Given the description of an element on the screen output the (x, y) to click on. 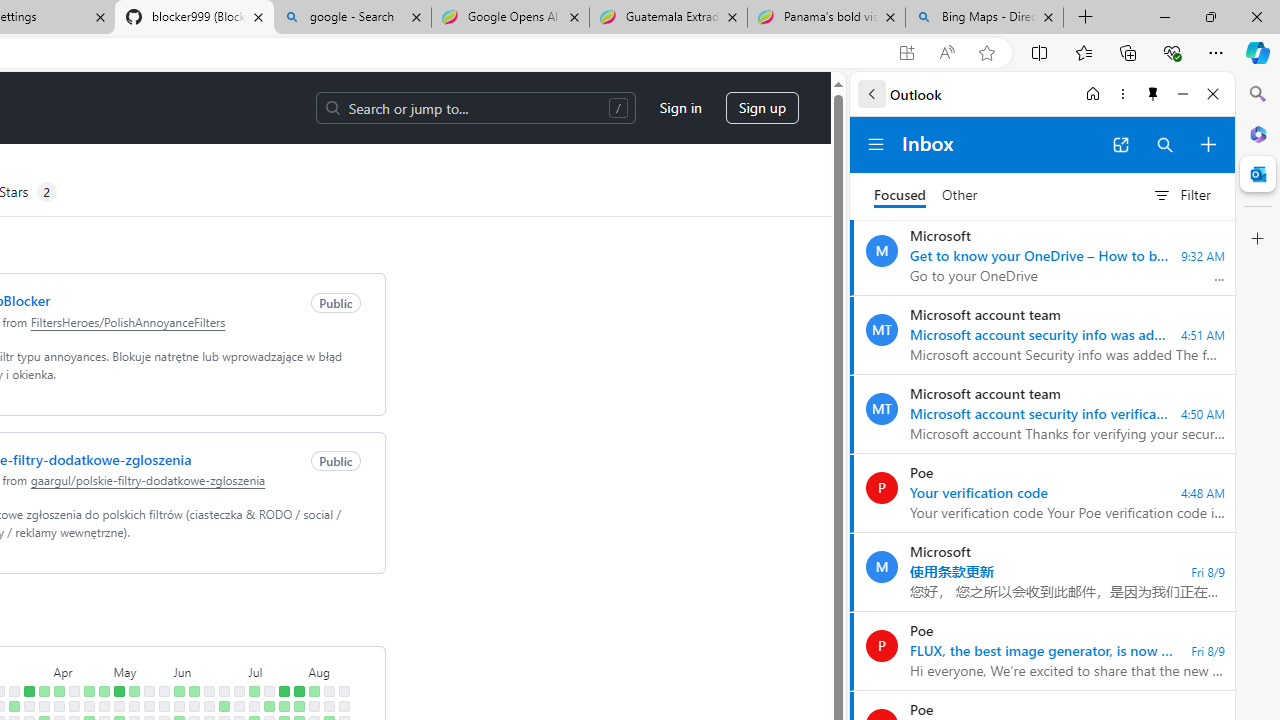
gaargul/polskie-filtry-dodatkowe-zgloszenia (147, 480)
2 contributions on July 22nd. (283, 706)
FiltersHeroes/PolishAnnoyanceFilters (127, 321)
June (208, 670)
Settings and more (Alt+F) (1215, 52)
Sign in (680, 107)
Copilot (Ctrl+Shift+.) (1258, 52)
May (141, 670)
No contributions on April 15th. (73, 706)
No contributions on April 29th. (104, 706)
No contributions on July 8th. (253, 706)
No contributions on May 27th. (163, 706)
Split screen (1039, 52)
